Given the description of an element on the screen output the (x, y) to click on. 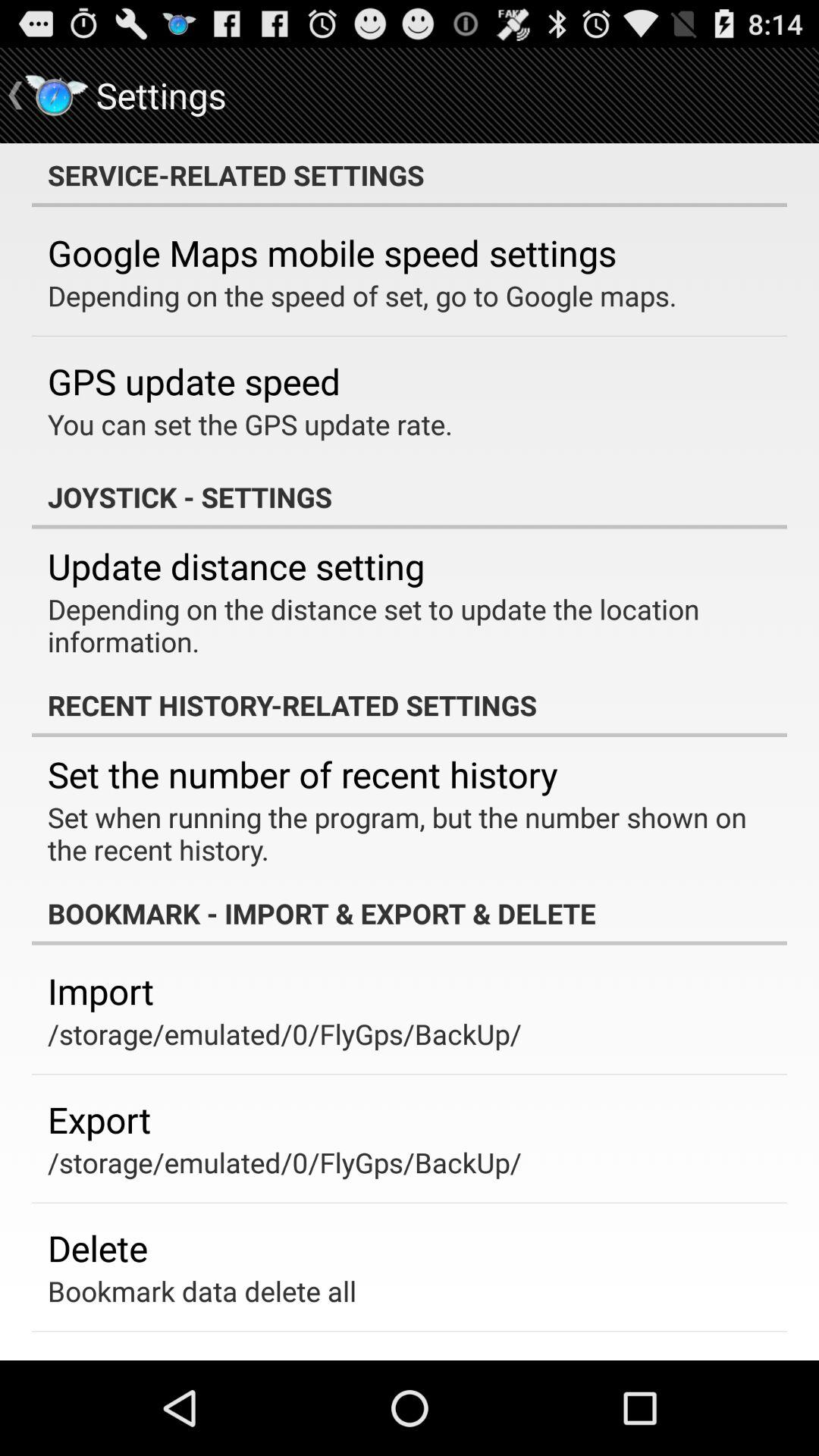
tap the bookmark import export (409, 913)
